Given the description of an element on the screen output the (x, y) to click on. 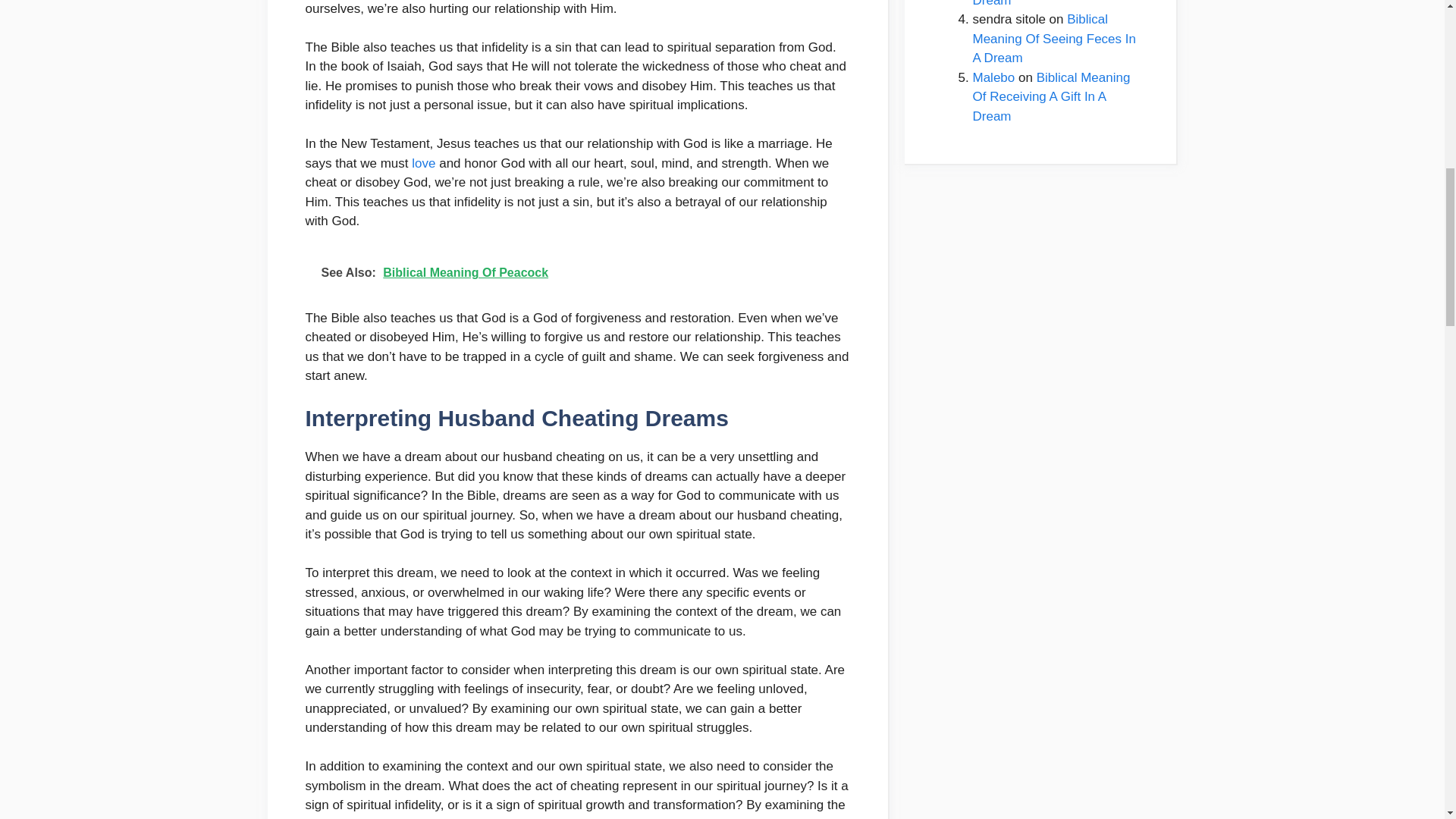
Biblical Meaning Of Seeing Feces In A Dream (1053, 38)
Biblical Meaning Of Receiving A Gift In A Dream (1050, 95)
love (423, 163)
love (423, 163)
See Also:  Biblical Meaning Of Peacock (576, 272)
Biblical Meaning Of A Truck In A Dream (1053, 3)
Malebo (993, 76)
